Given the description of an element on the screen output the (x, y) to click on. 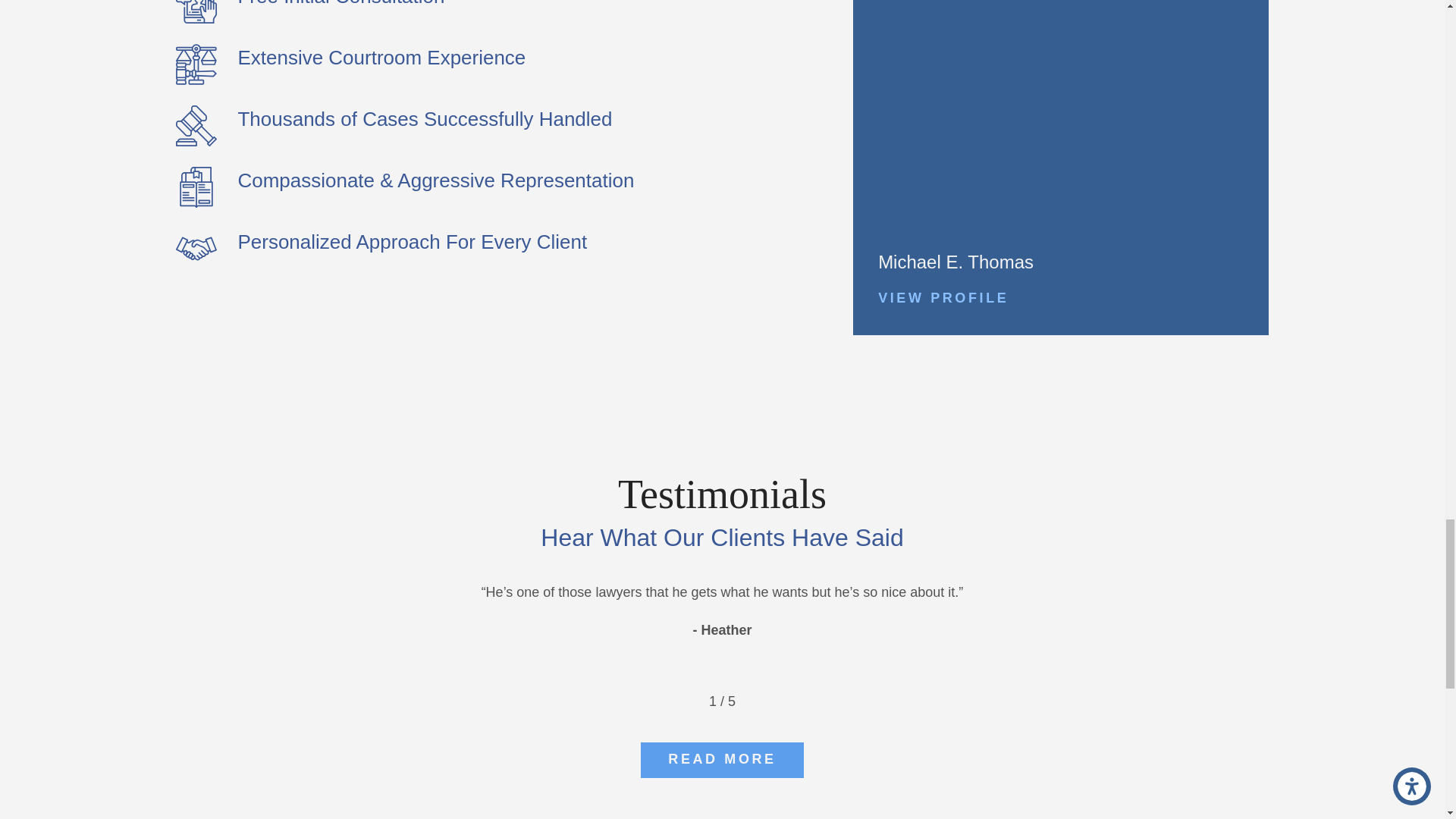
View previous item (684, 700)
View next item (759, 700)
